Given the description of an element on the screen output the (x, y) to click on. 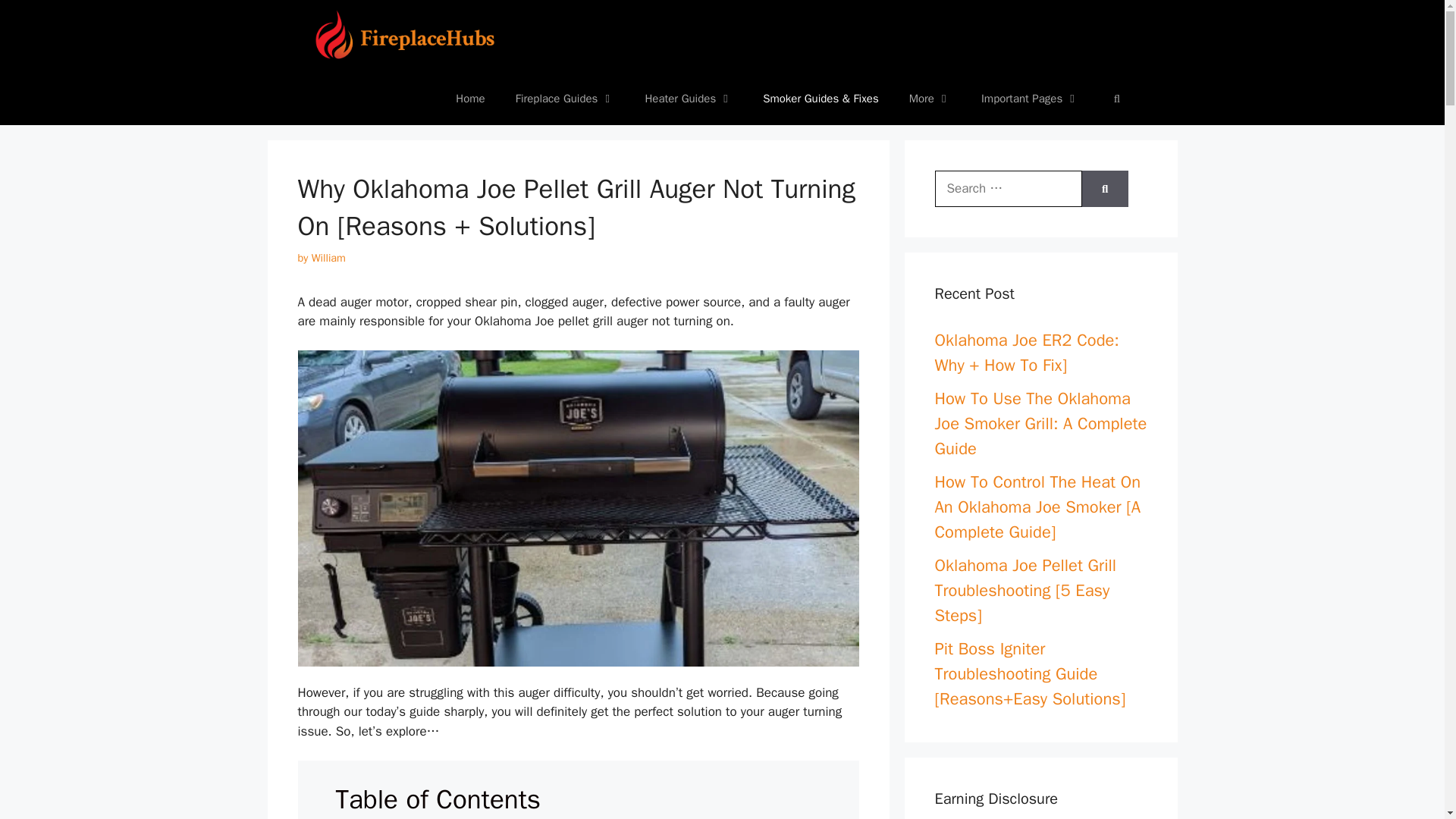
Fireplace Guides (565, 98)
William (328, 257)
Home (470, 98)
Important Pages (1030, 98)
View all posts by William (328, 257)
Search for: (1007, 188)
Heater Guides (688, 98)
More (929, 98)
FireplaceHubs (410, 36)
